Given the description of an element on the screen output the (x, y) to click on. 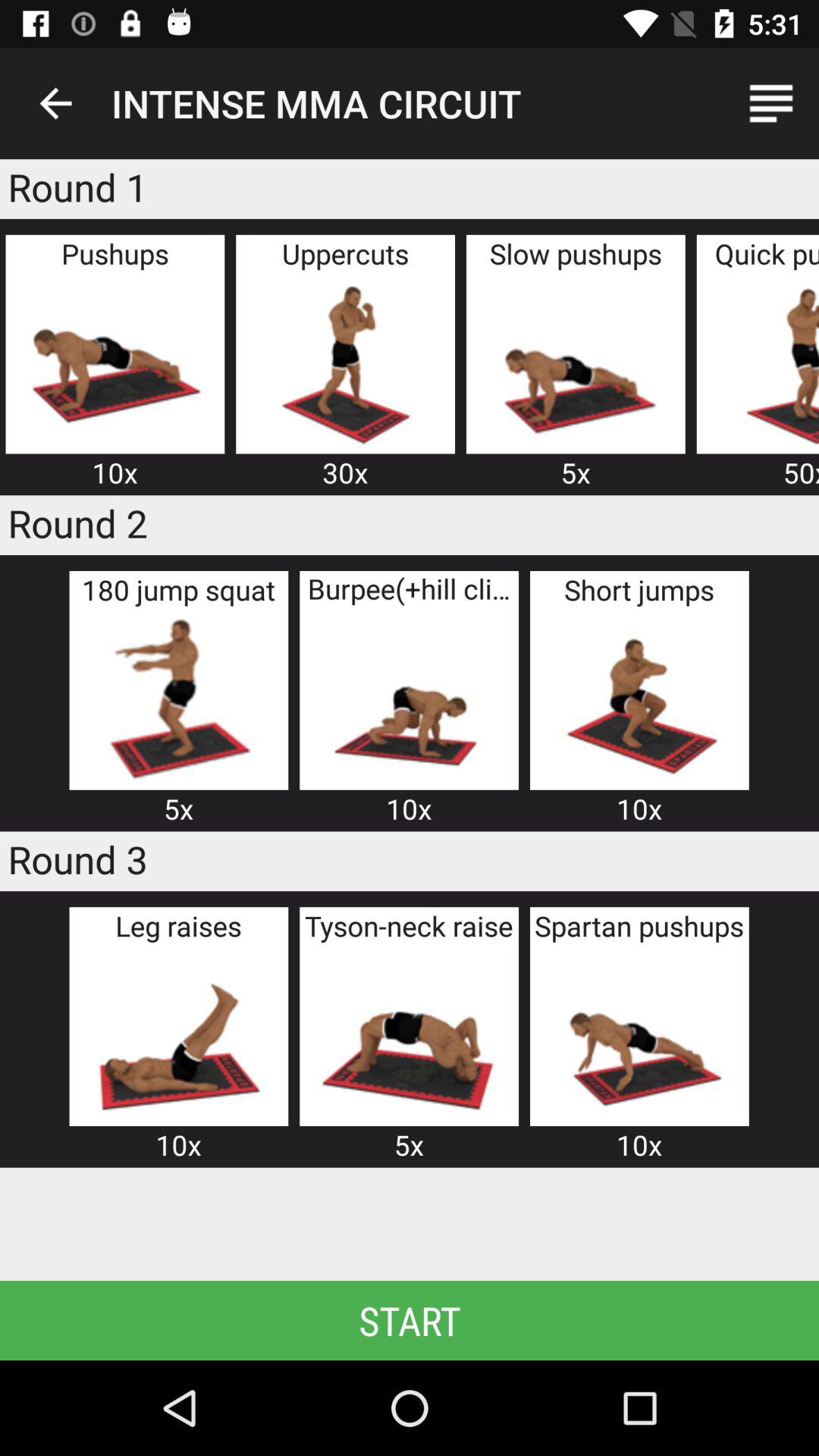
choose the item next to the intense mma circuit item (771, 103)
